Given the description of an element on the screen output the (x, y) to click on. 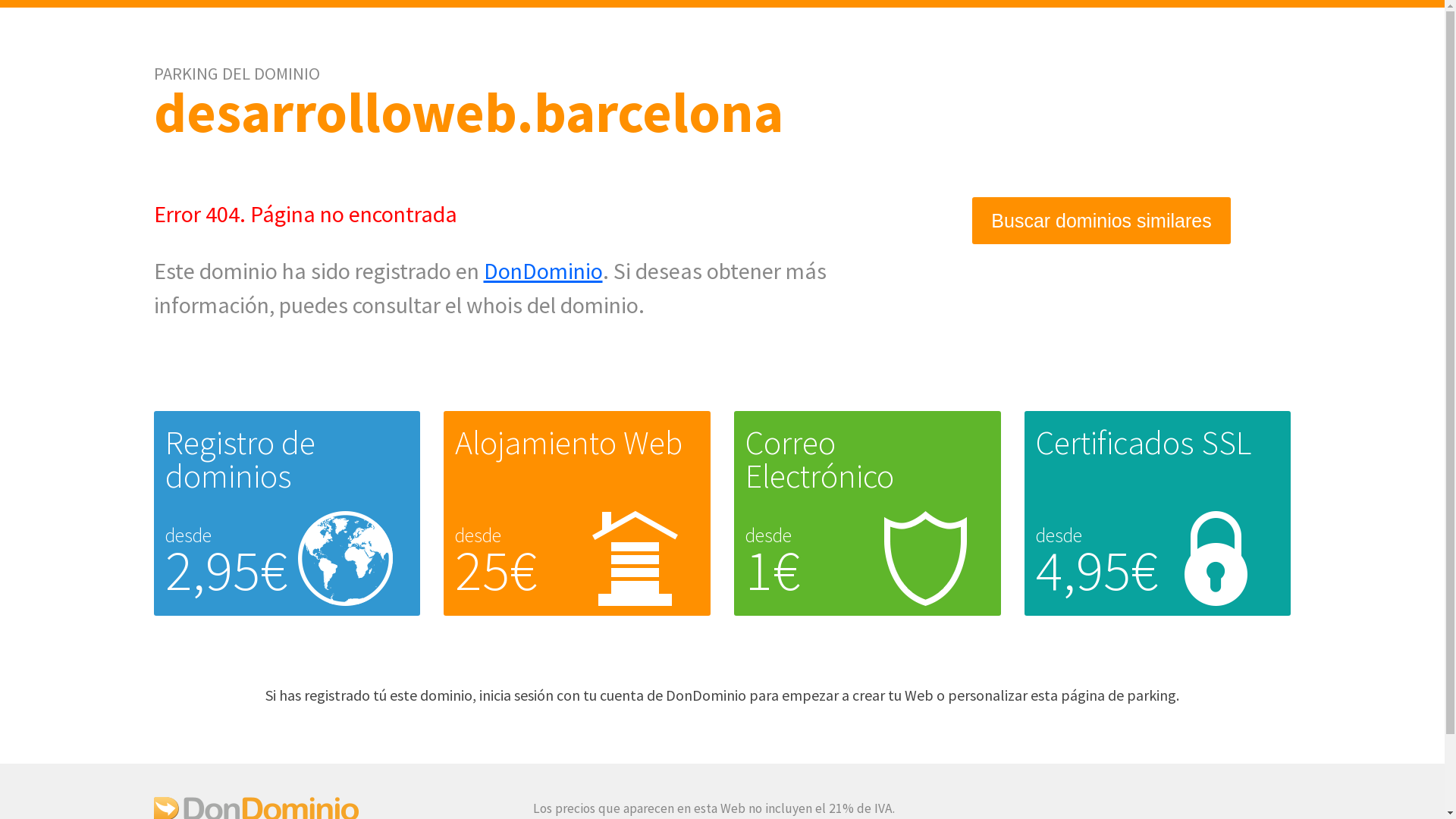
Alojamiento Web Element type: text (568, 442)
DonDominio Element type: text (542, 270)
Certificados SSL Element type: text (1143, 442)
Registro de dominios Element type: text (240, 458)
Buscar dominios similares Element type: text (1101, 220)
